Given the description of an element on the screen output the (x, y) to click on. 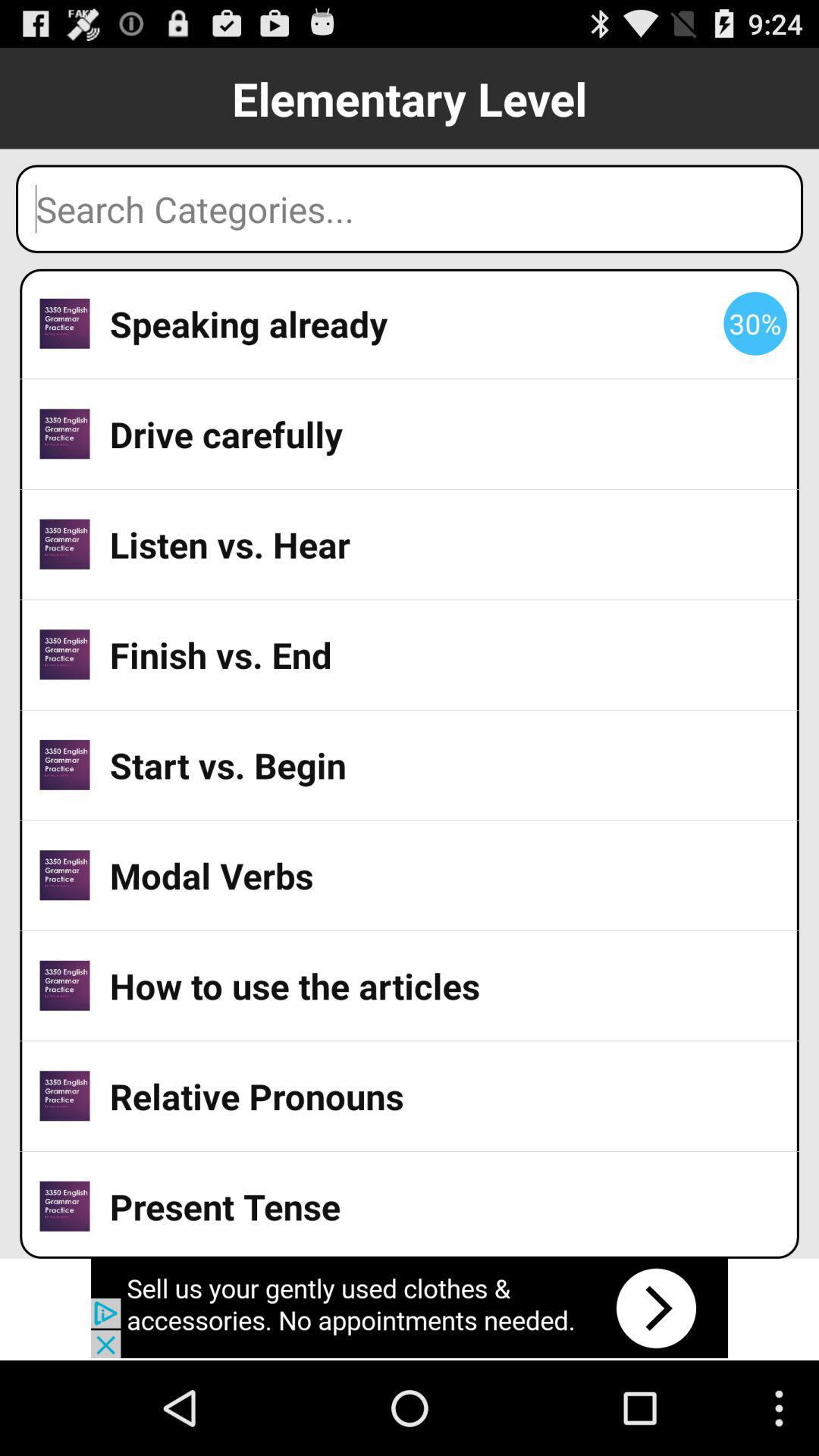
search (409, 208)
